Given the description of an element on the screen output the (x, y) to click on. 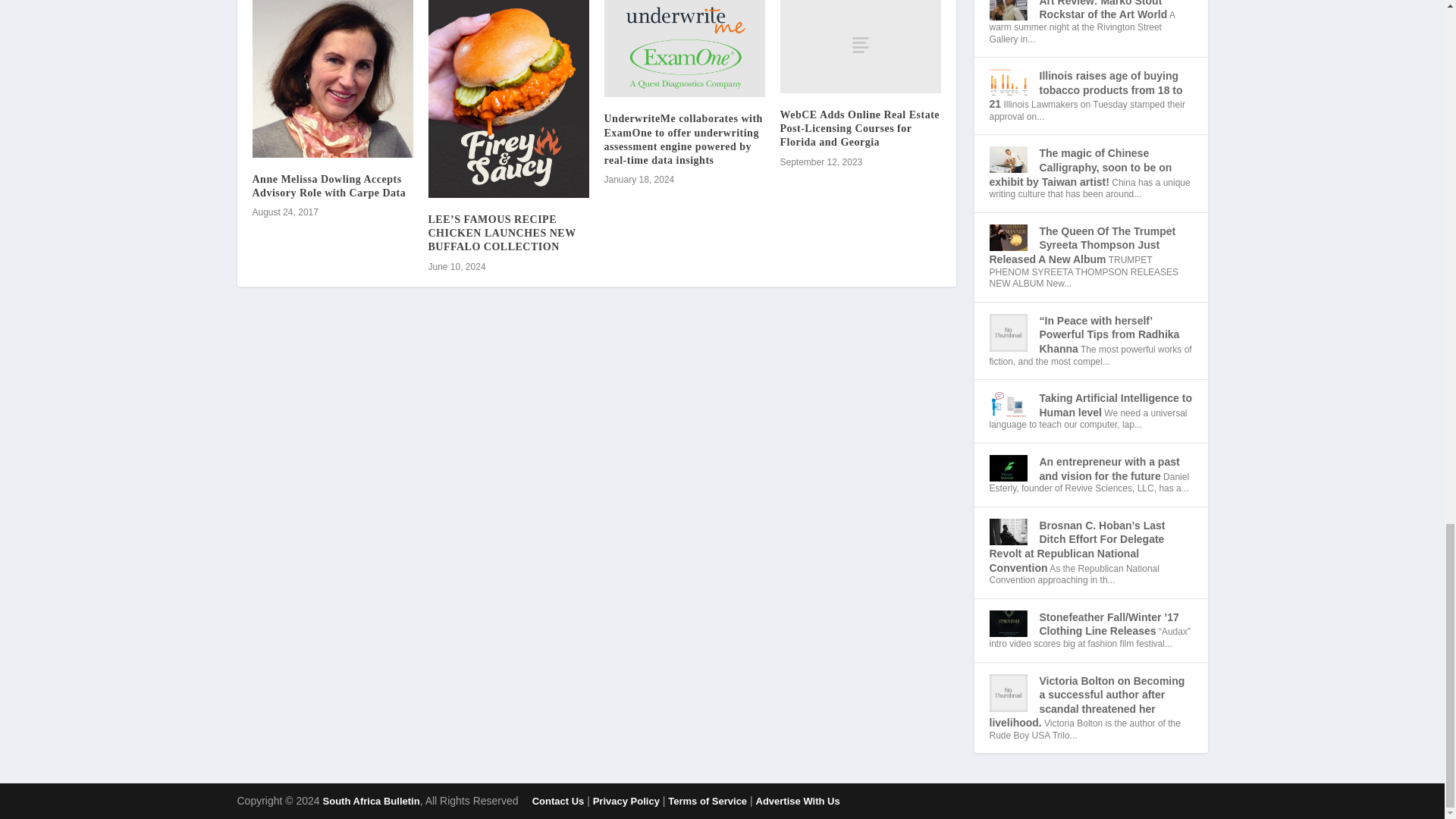
Anne Melissa Dowling Accepts Advisory Role with Carpe Data (328, 186)
Anne Melissa Dowling Accepts Advisory Role with Carpe Data (331, 79)
